Given the description of an element on the screen output the (x, y) to click on. 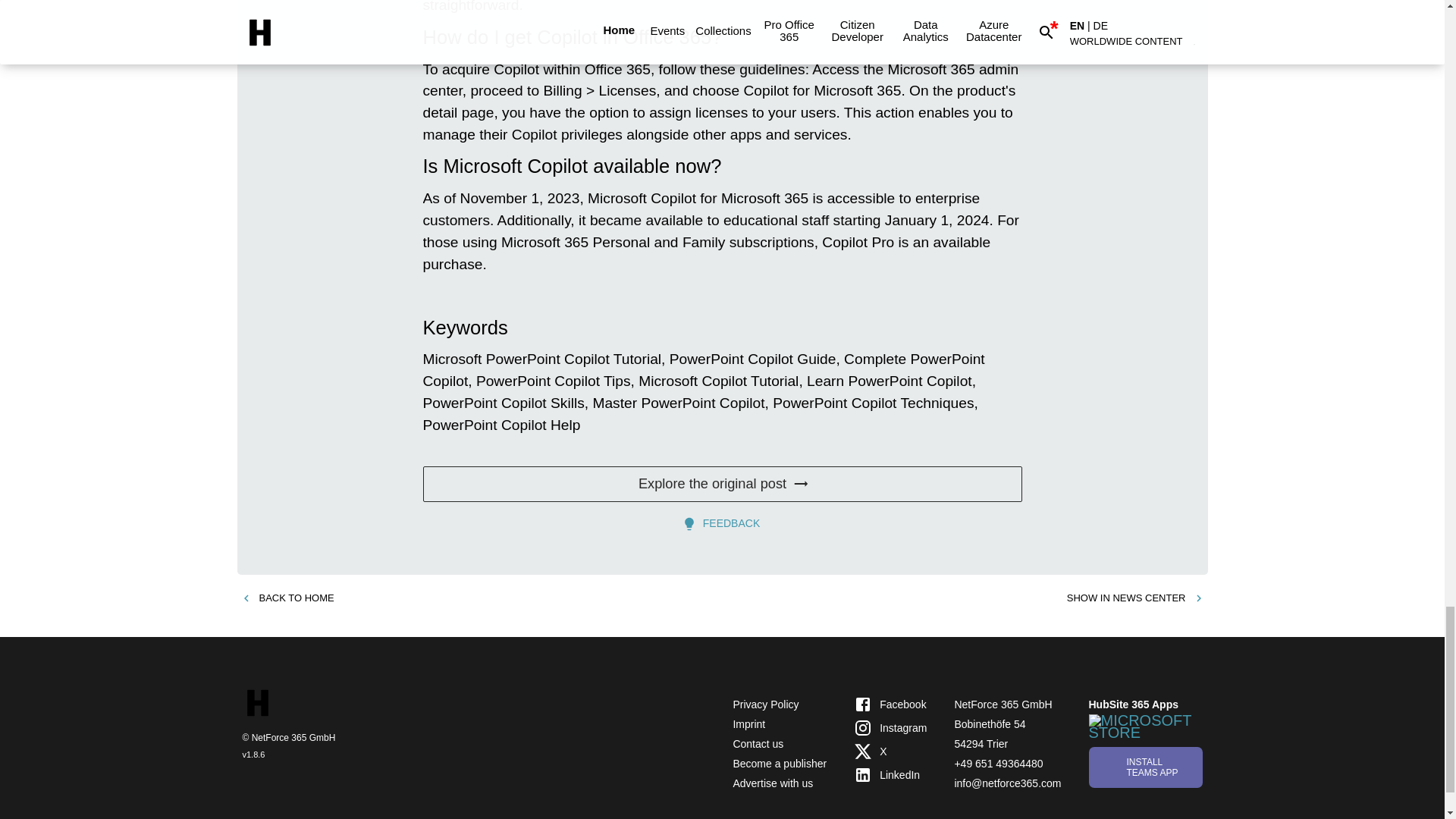
NetForce 365 GmbH (1002, 704)
SHOW IN NEWS CENTER (1135, 598)
BACK TO HOME (286, 598)
Facebook (889, 704)
LinkedIn (889, 774)
Contact us (757, 743)
Imprint (748, 724)
Advertise with us (772, 783)
X (889, 751)
Instagram (889, 727)
Become a publisher (779, 763)
Privacy Policy (764, 704)
FEEDBACK (721, 523)
Explore the original post (722, 484)
Install app (1145, 766)
